Given the description of an element on the screen output the (x, y) to click on. 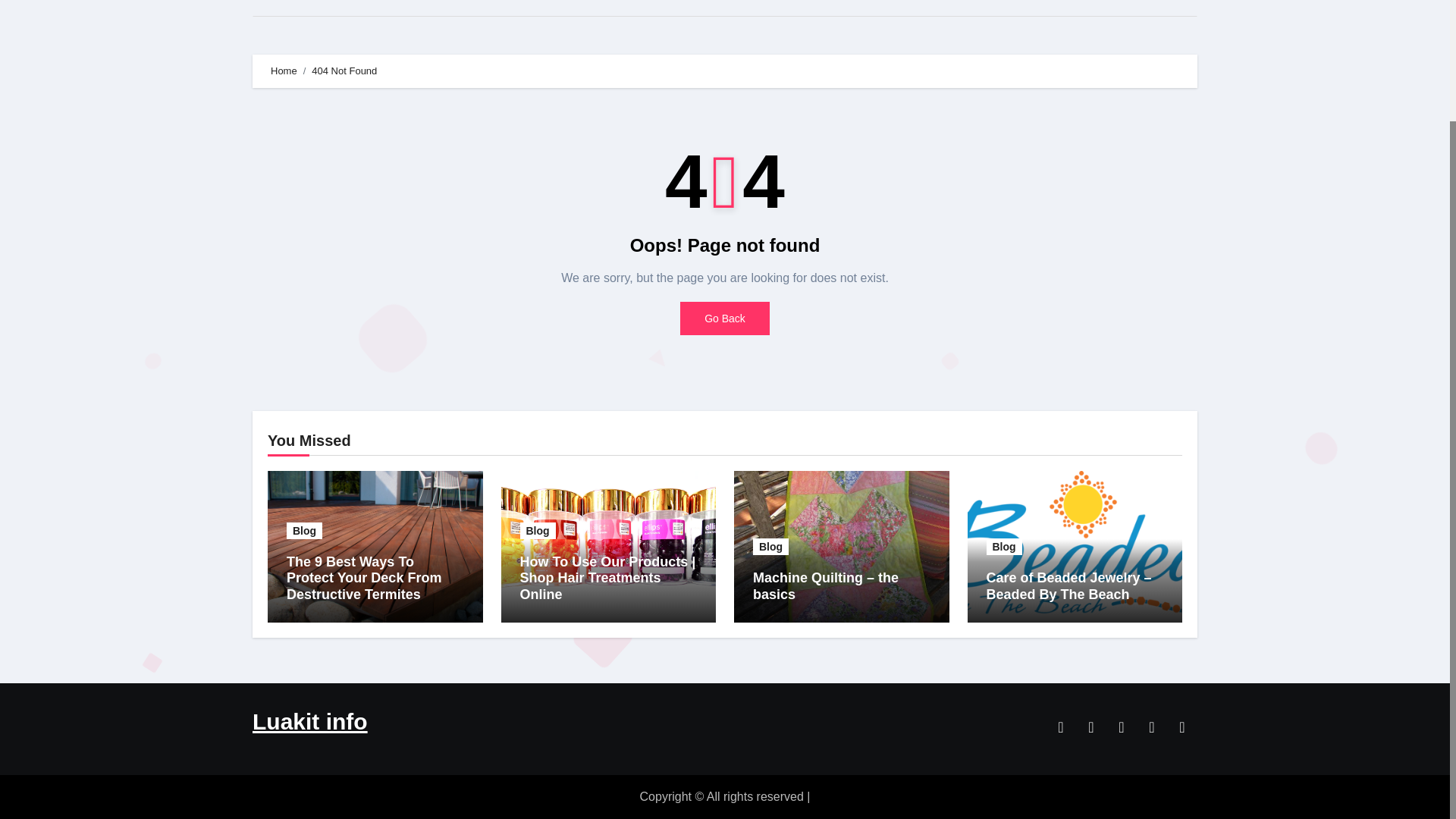
Blog (1003, 546)
Home (283, 70)
Blog (770, 546)
Blog (537, 530)
Go Back (724, 318)
Home (282, 7)
Luakit info (309, 721)
Home (282, 7)
Blog (303, 530)
